Given the description of an element on the screen output the (x, y) to click on. 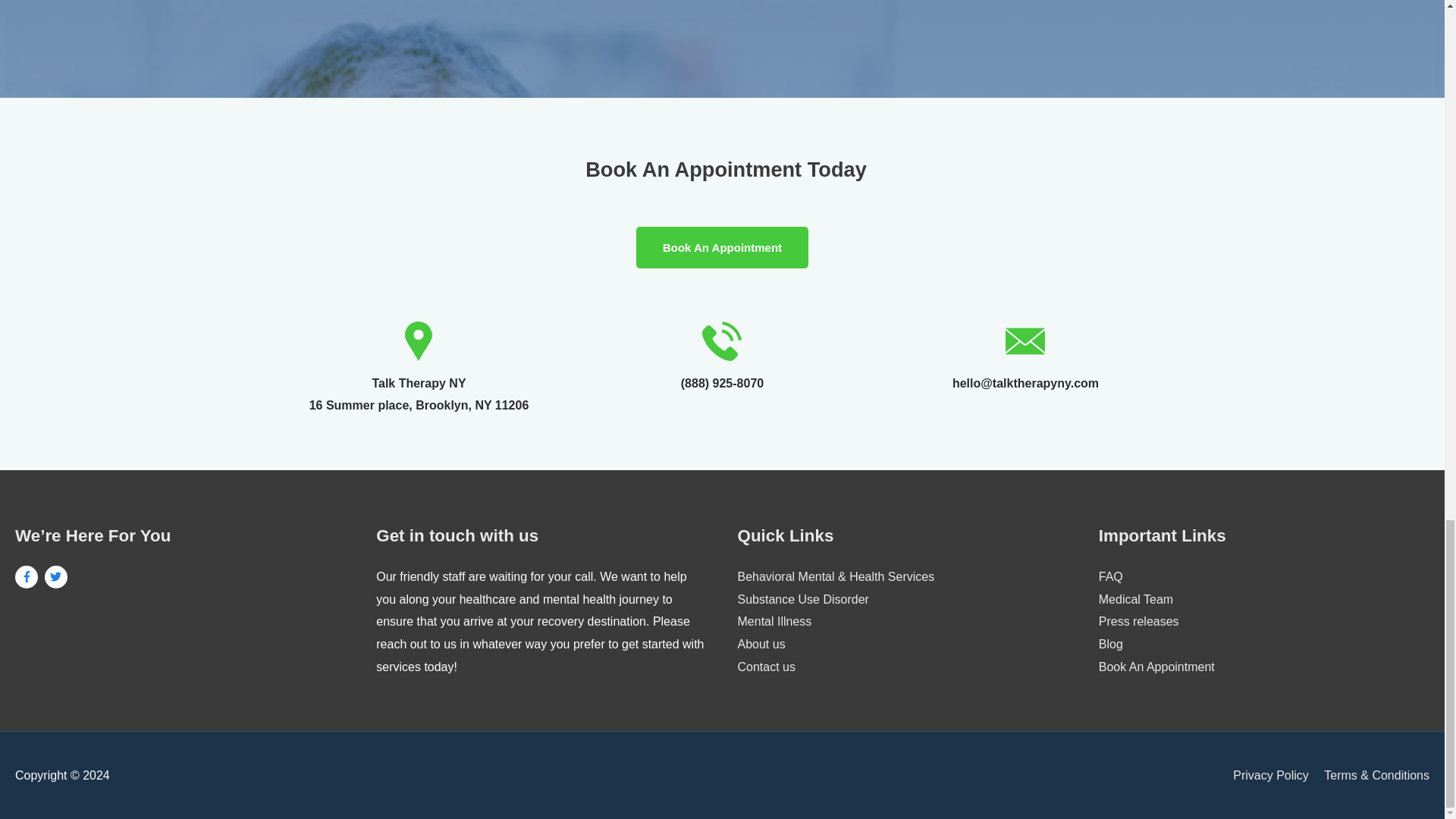
Substance Use Disorder (801, 599)
Book An Appointment (722, 247)
Contact us (765, 666)
Mental Illness (773, 621)
Blog (1110, 644)
FAQ (1110, 576)
Book An Appointment (1156, 666)
Medical Team (1136, 599)
Privacy Policy (1270, 775)
Press releases (1139, 621)
About us (760, 644)
